Given the description of an element on the screen output the (x, y) to click on. 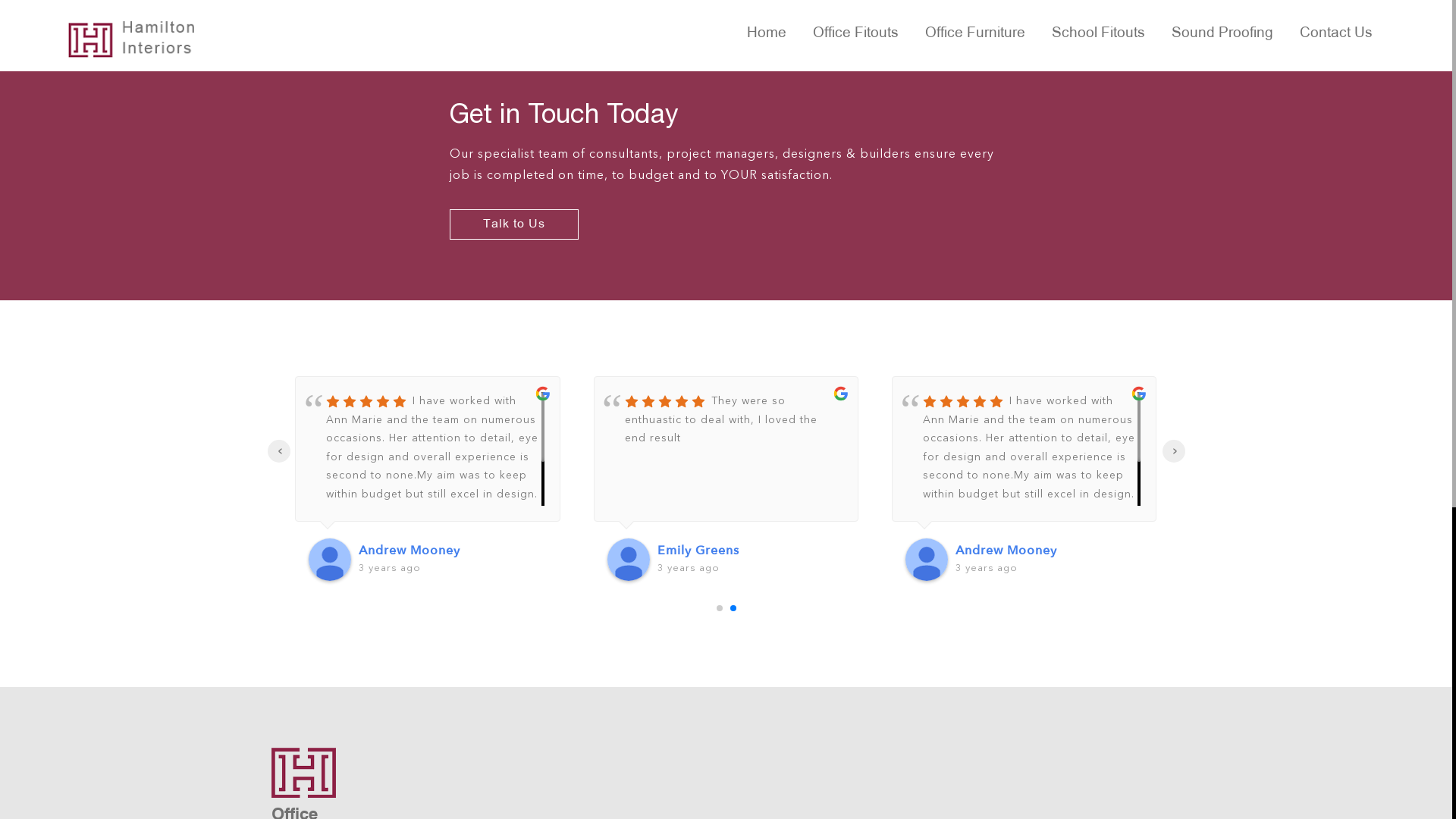
Emily Greens Element type: text (750, 550)
Office Furniture Element type: text (974, 35)
Sound Proofing Element type: text (1222, 35)
Home Element type: text (766, 35)
Talk to Us Element type: text (512, 224)
Office Fitouts Element type: text (855, 35)
Andrew Mooney Element type: text (1048, 550)
Hamilton Interiors Element type: text (159, 39)
Contact Us Element type: text (1335, 35)
Andrew Mooney Element type: text (452, 550)
School Fitouts Element type: text (1098, 35)
